Given the description of an element on the screen output the (x, y) to click on. 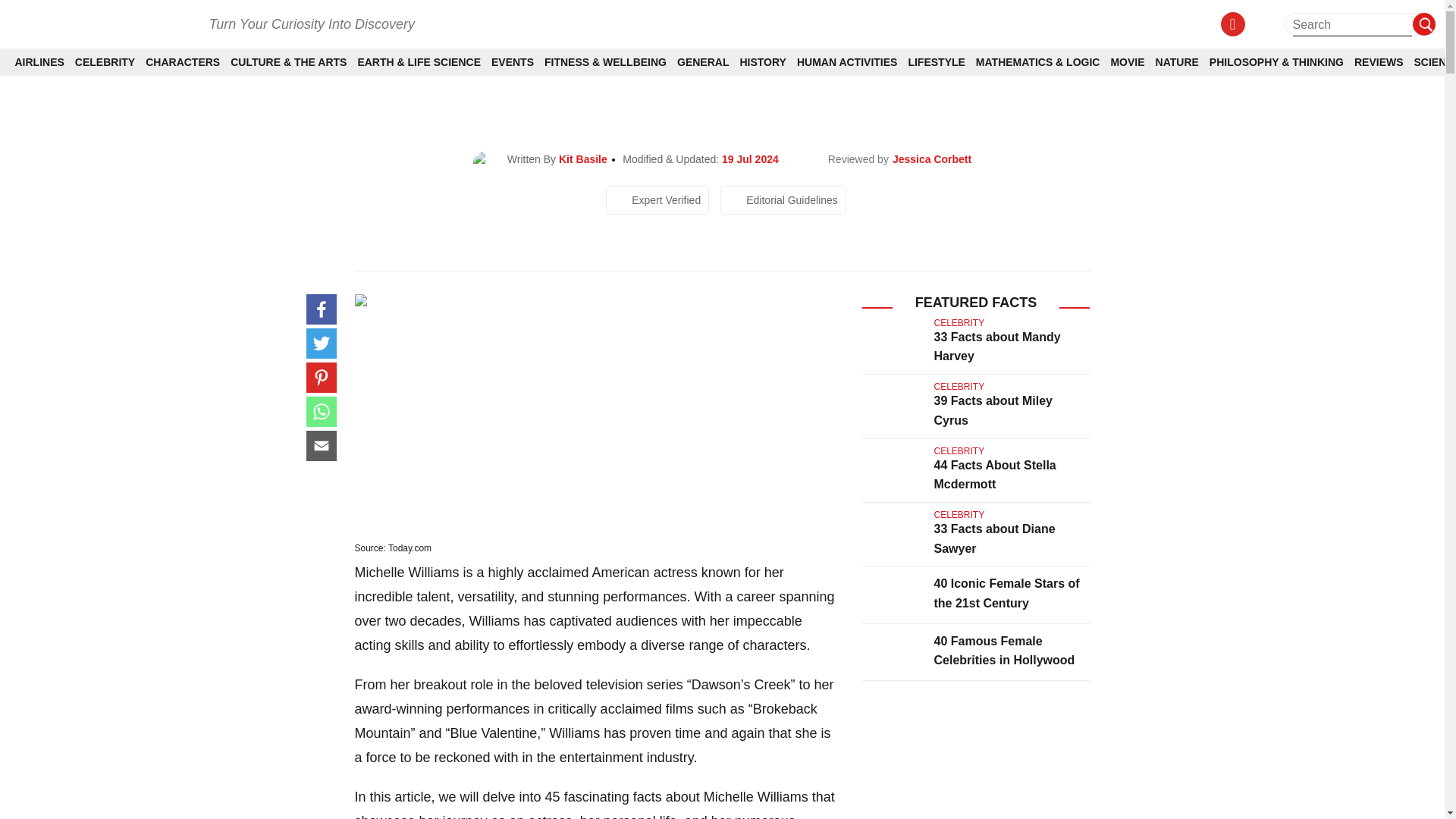
Facts.net (100, 23)
GENERAL (703, 62)
HUMAN ACTIVITIES (846, 62)
LIFESTYLE (935, 62)
EVENTS (513, 62)
AIRLINES (39, 62)
CHARACTERS (182, 62)
CELEBRITY (105, 62)
HISTORY (762, 62)
